Given the description of an element on the screen output the (x, y) to click on. 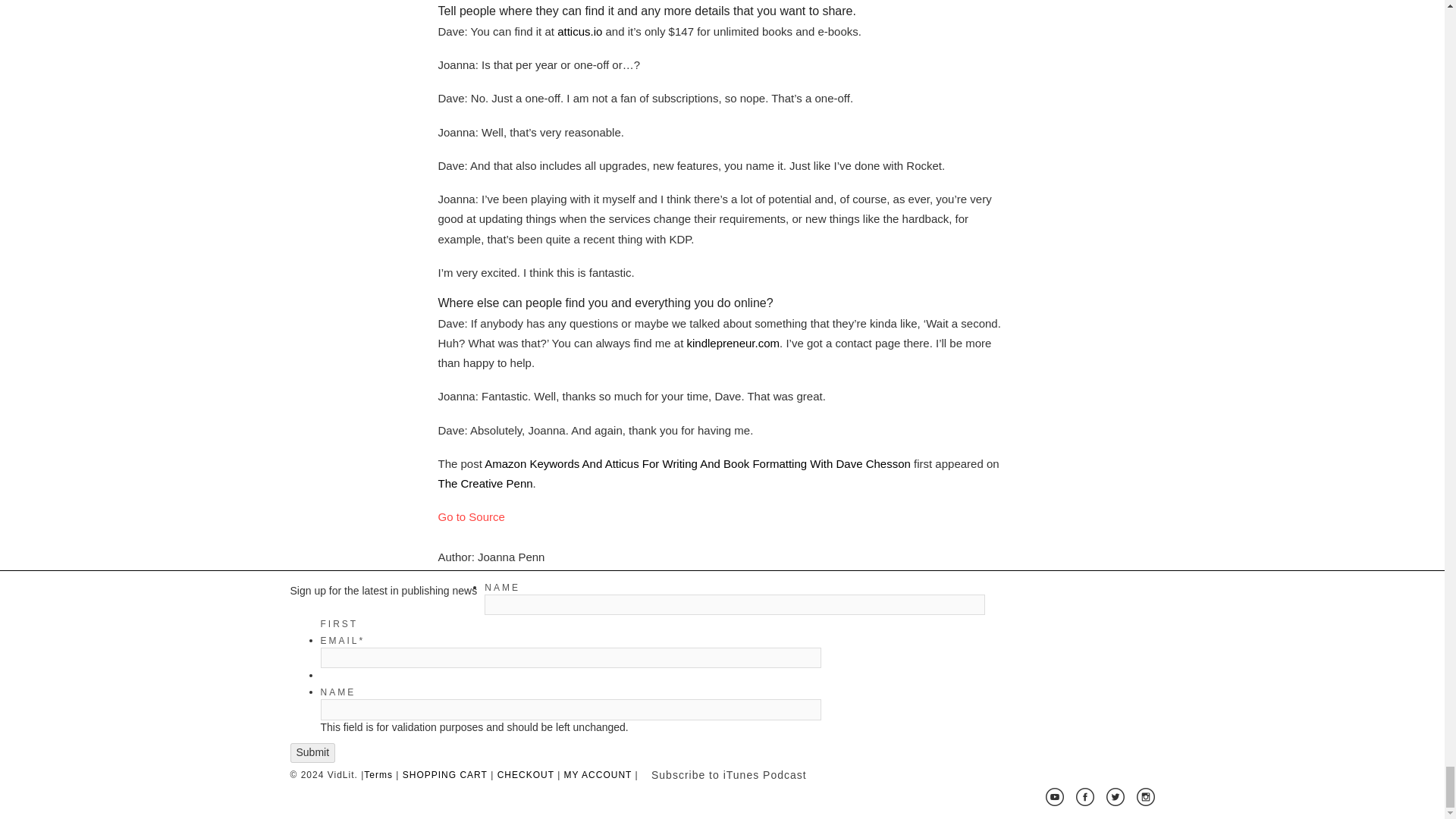
Submit (746, 737)
